Given the description of an element on the screen output the (x, y) to click on. 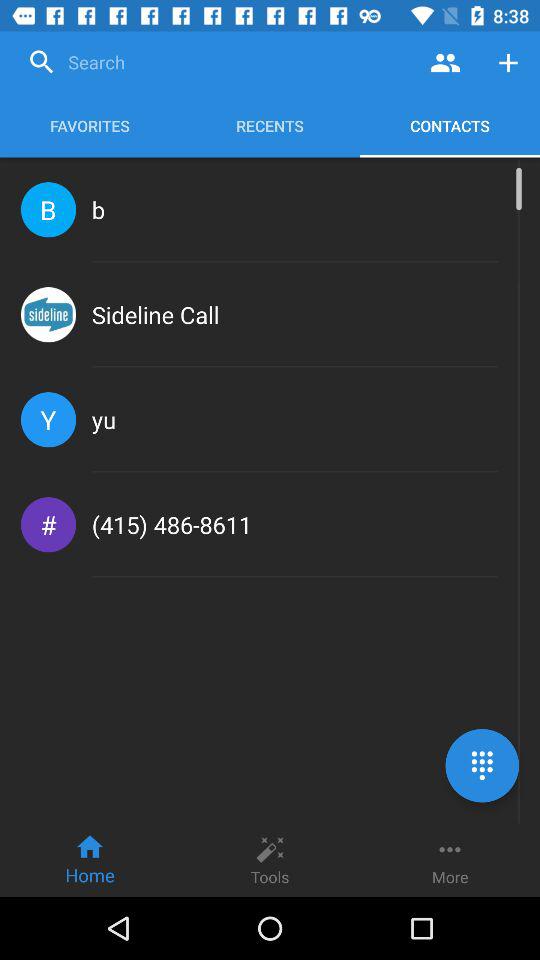
jump until the # icon (48, 524)
